Given the description of an element on the screen output the (x, y) to click on. 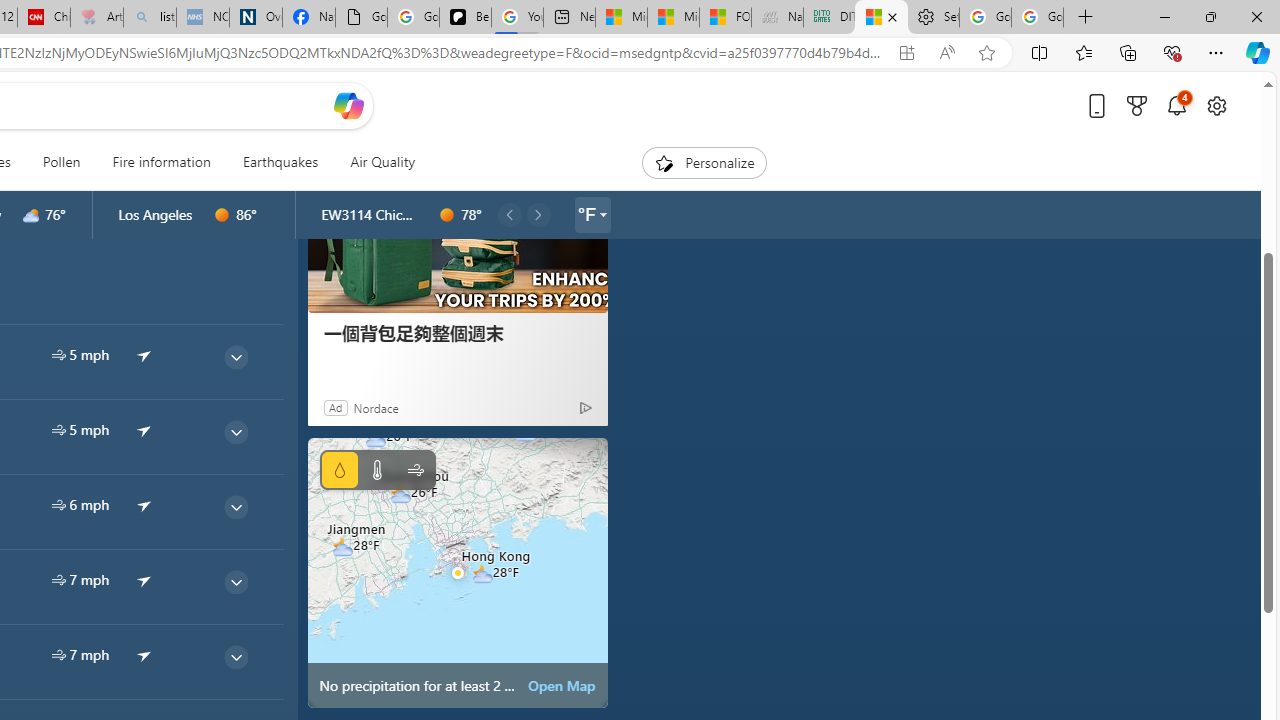
Pollen (61, 162)
common/arrow (143, 655)
Open settings (1216, 105)
Air Quality (375, 162)
common/carouselChevron (538, 214)
Fire information (161, 162)
Navy Quest (776, 17)
Fire information (161, 162)
No precipitation for at least 2 hours (457, 572)
